Given the description of an element on the screen output the (x, y) to click on. 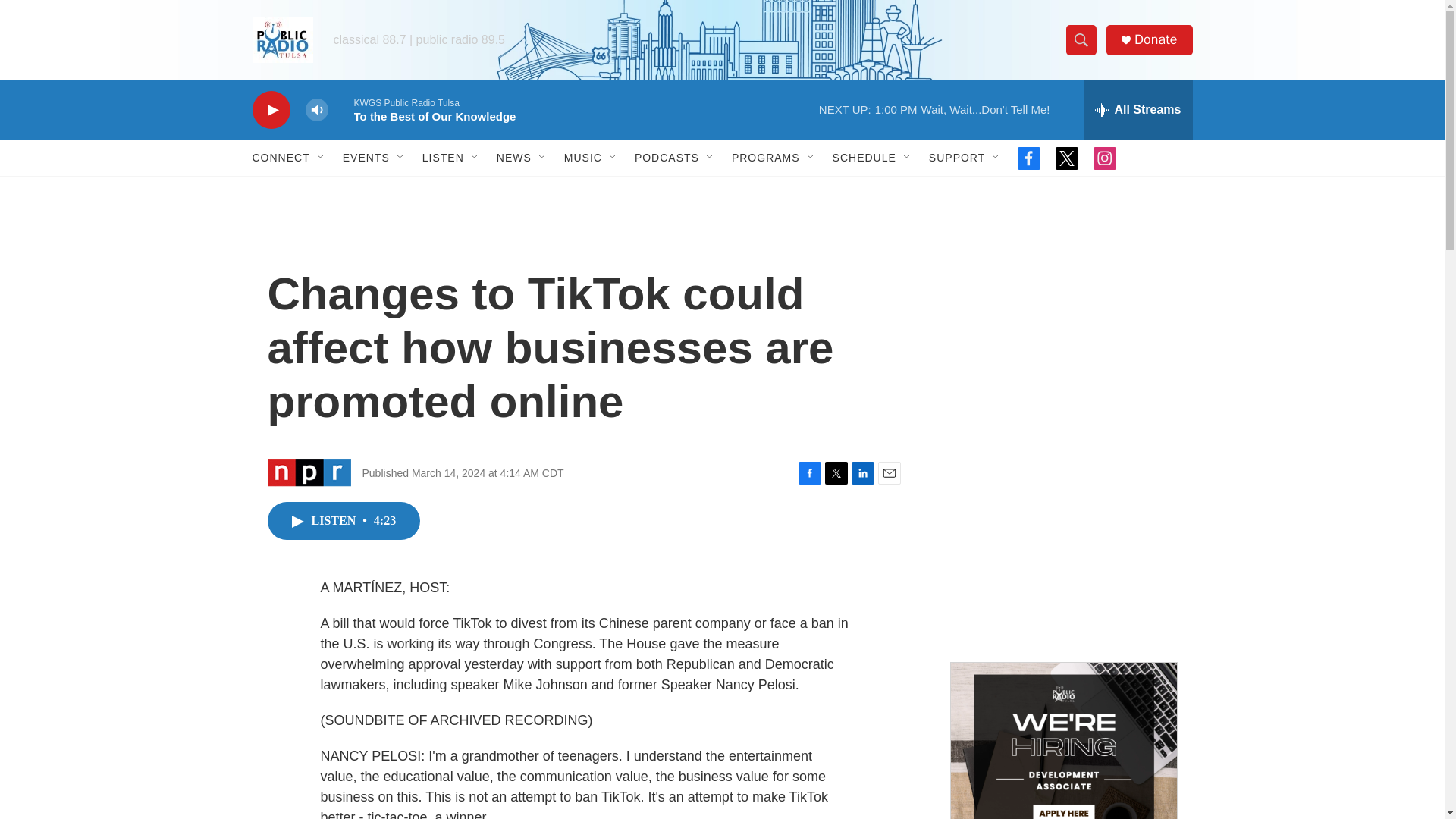
3rd party ad content (1062, 316)
3rd party ad content (1062, 536)
